Given the description of an element on the screen output the (x, y) to click on. 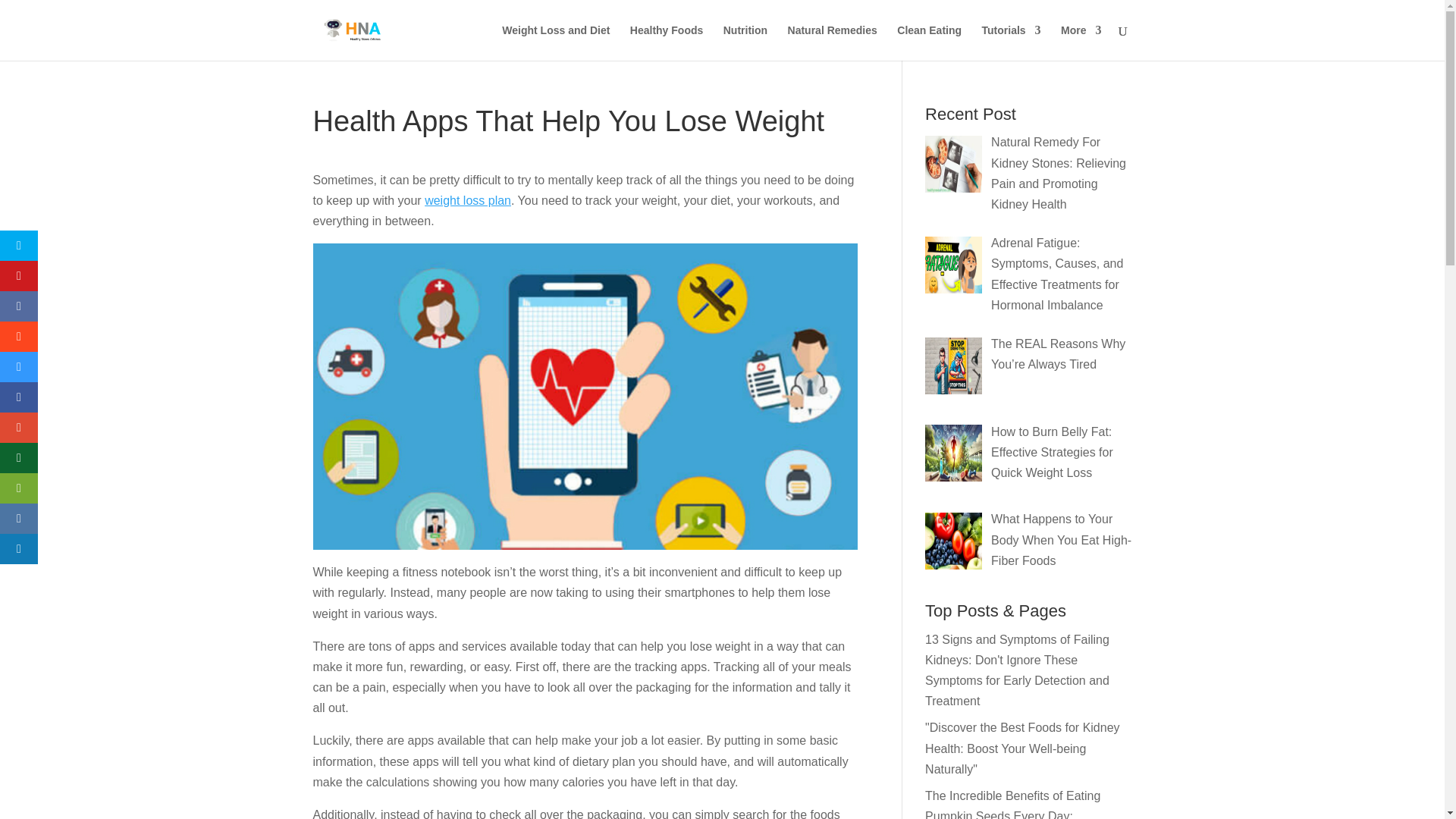
Nutrition (745, 42)
Clean Eating (928, 42)
weight loss plan (468, 200)
Weight Loss and Diet (556, 42)
Healthy Foods (666, 42)
Natural Remedies (832, 42)
What Happens to Your Body When You Eat High-Fiber Foods (1061, 539)
More (1080, 42)
Tutorials (1011, 42)
